Given the description of an element on the screen output the (x, y) to click on. 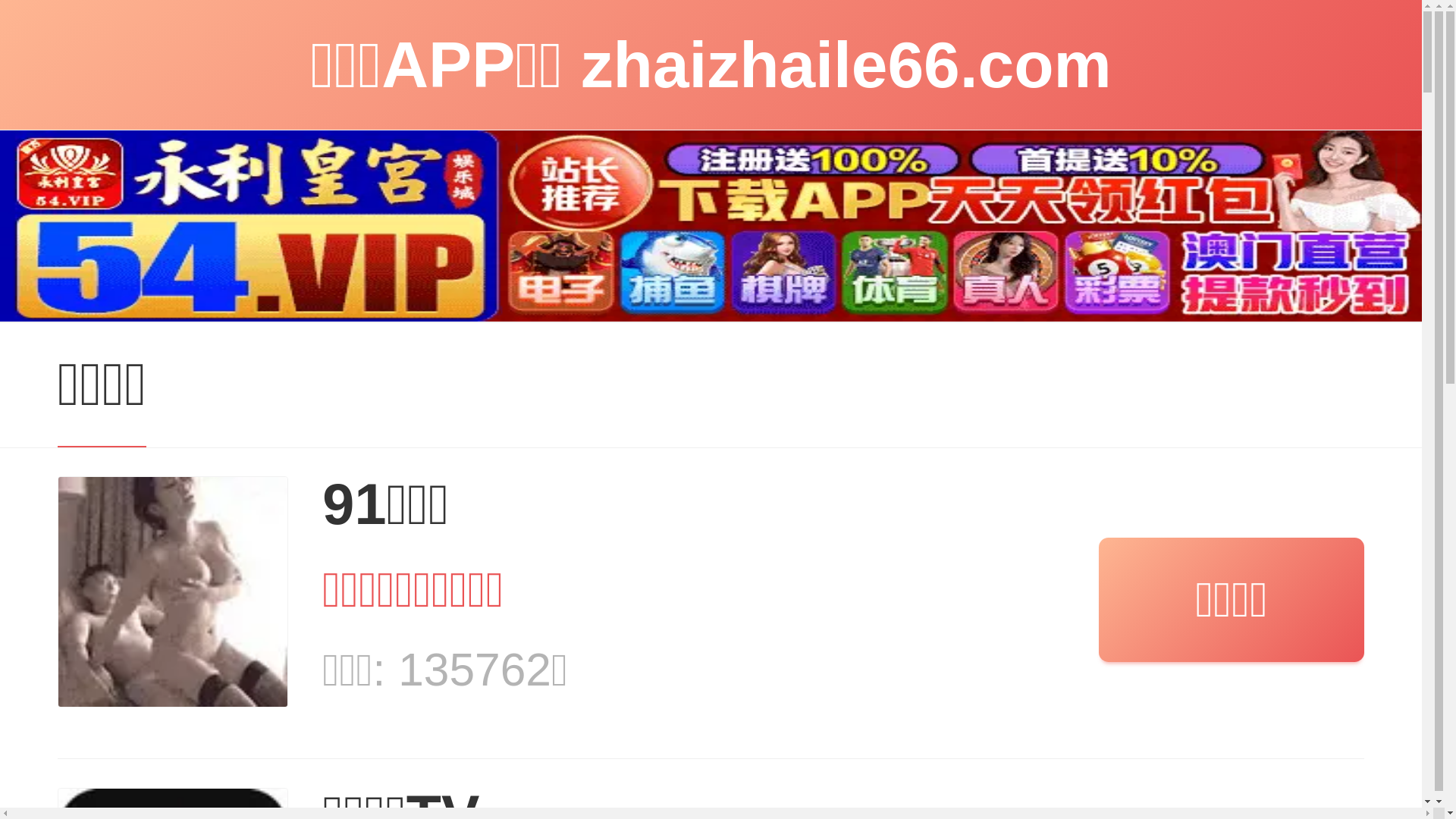
admin
admin Element type: text (360, 127)
Cart"/> Element type: text (1181, 21)
